Given the description of an element on the screen output the (x, y) to click on. 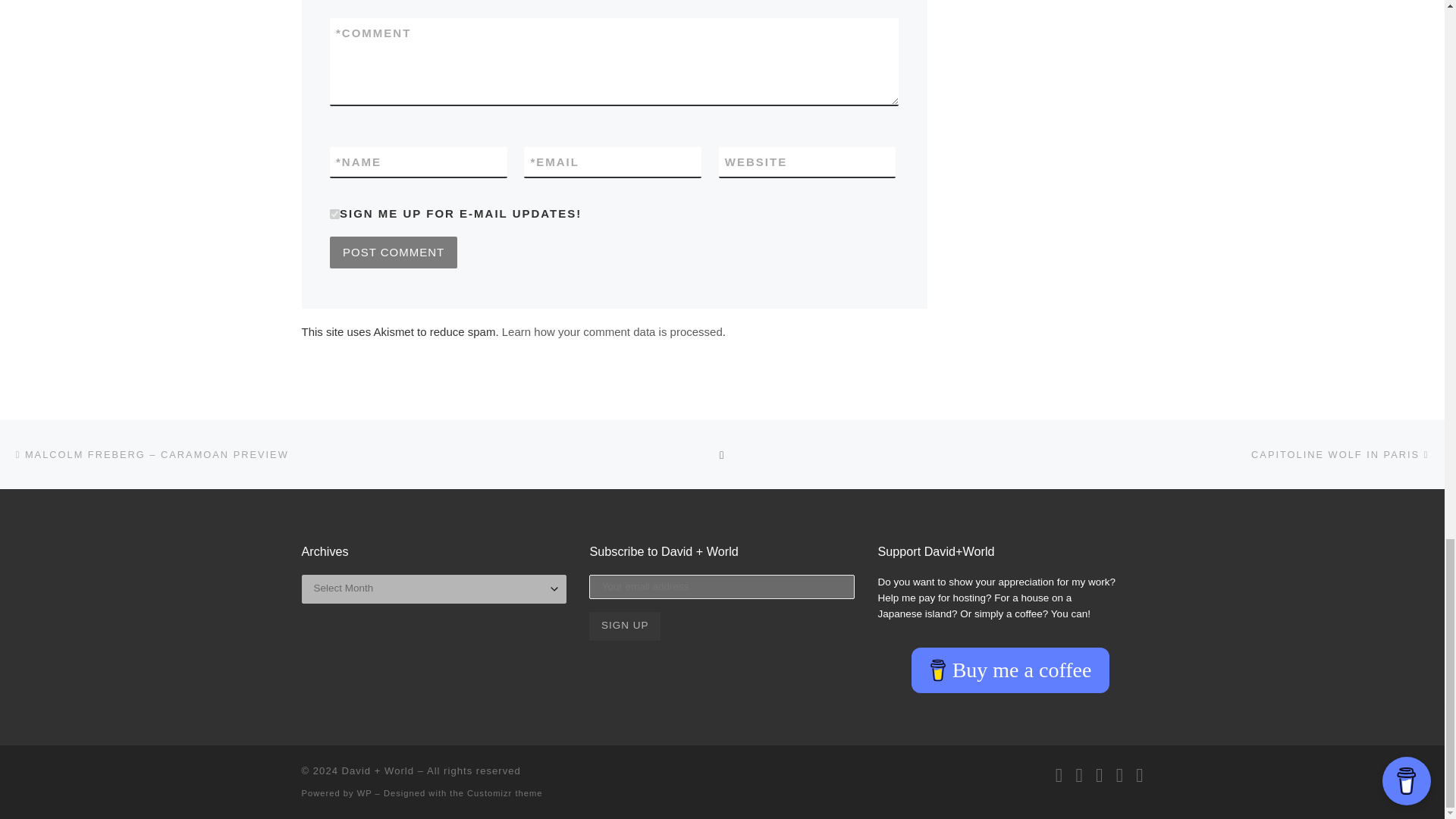
Post Comment (393, 252)
Sign up (625, 625)
Powered by WordPress (364, 792)
1 (334, 214)
